Given the description of an element on the screen output the (x, y) to click on. 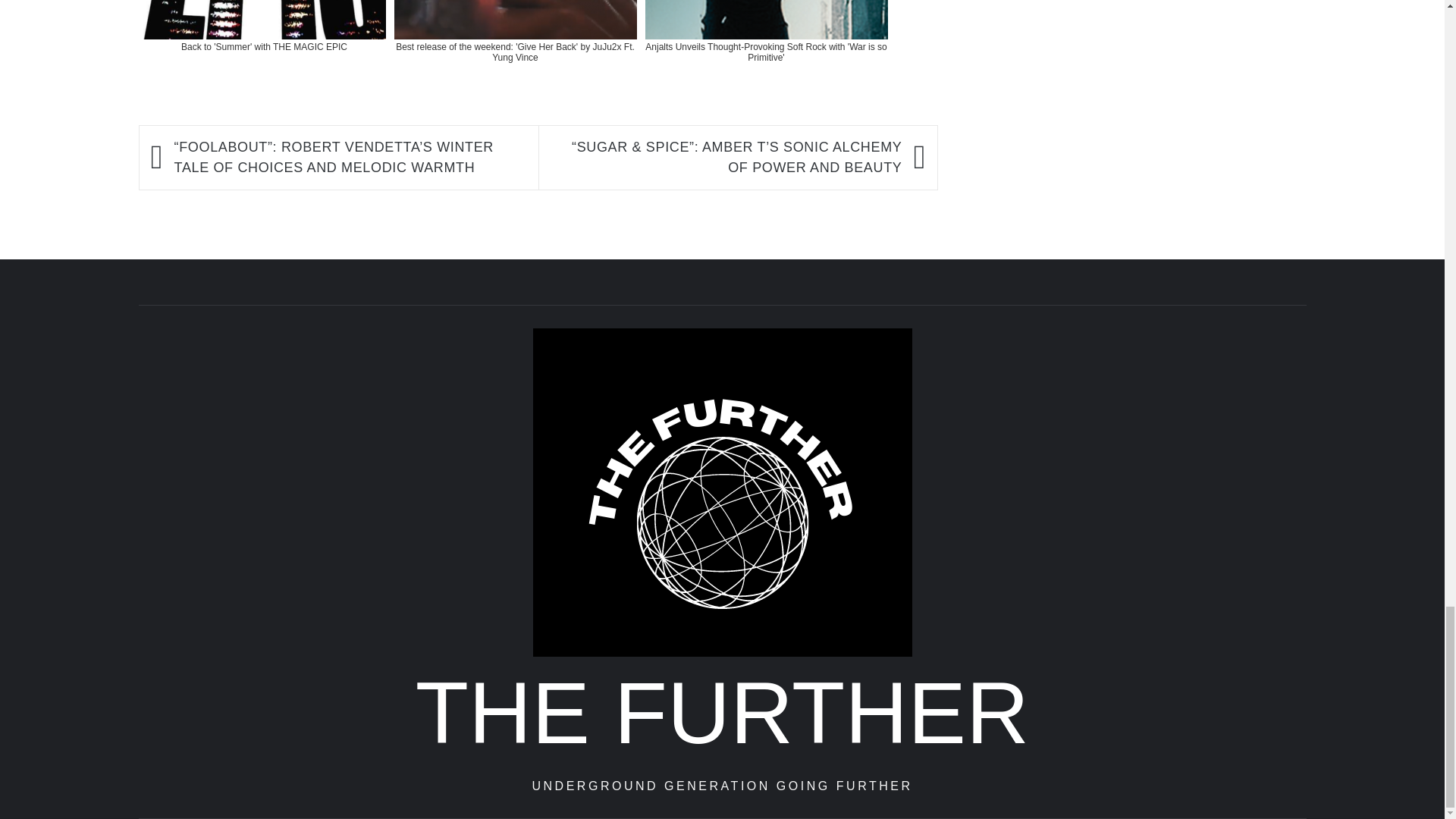
Back to 'Summer' with THE MAGIC EPIC (264, 50)
